Given the description of an element on the screen output the (x, y) to click on. 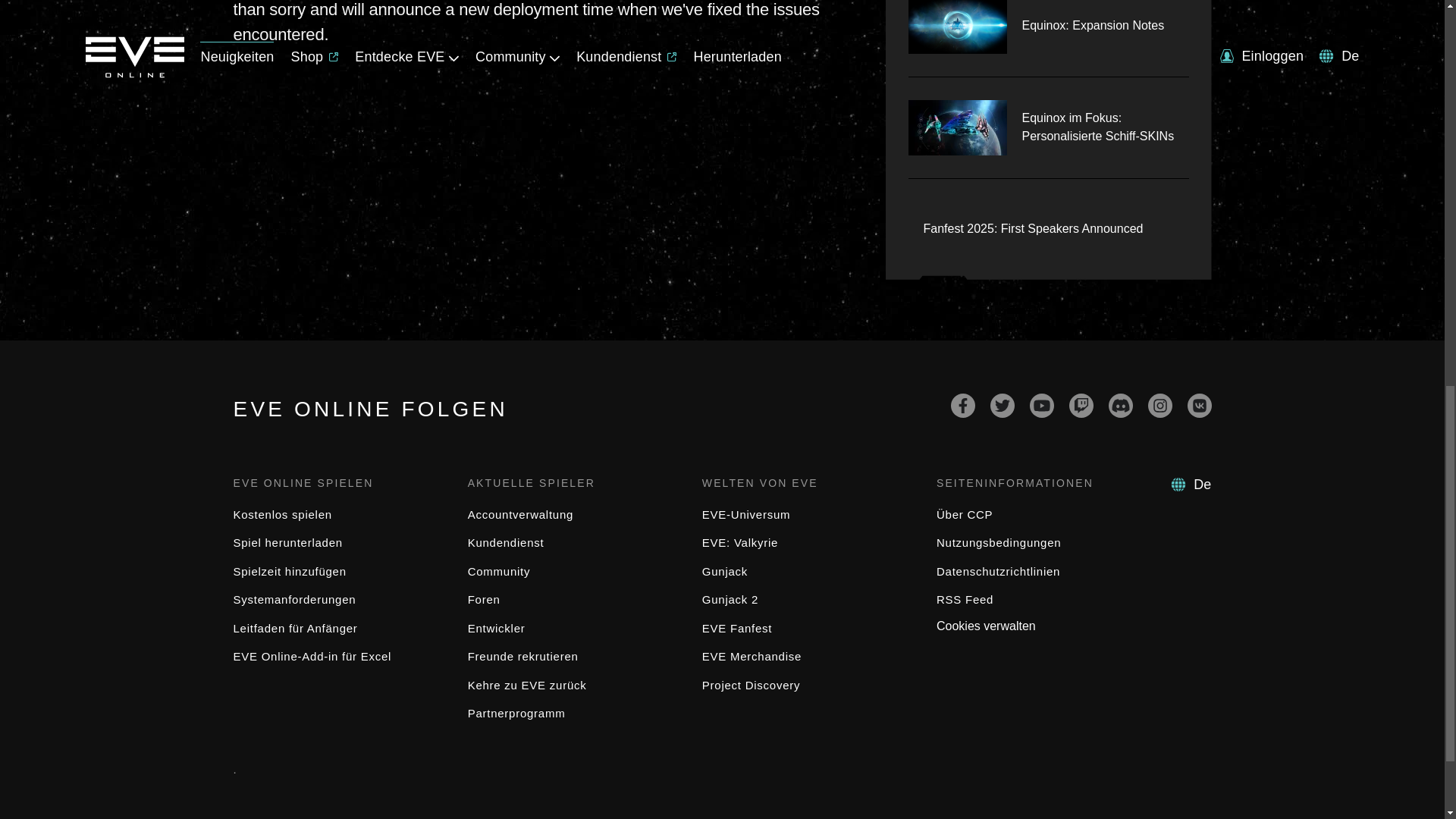
Instagram (1160, 405)
Facebook (962, 405)
Twitch (1080, 405)
YouTube (1041, 405)
VK (1199, 405)
Twitter (1002, 405)
Discord (1120, 405)
